Given the description of an element on the screen output the (x, y) to click on. 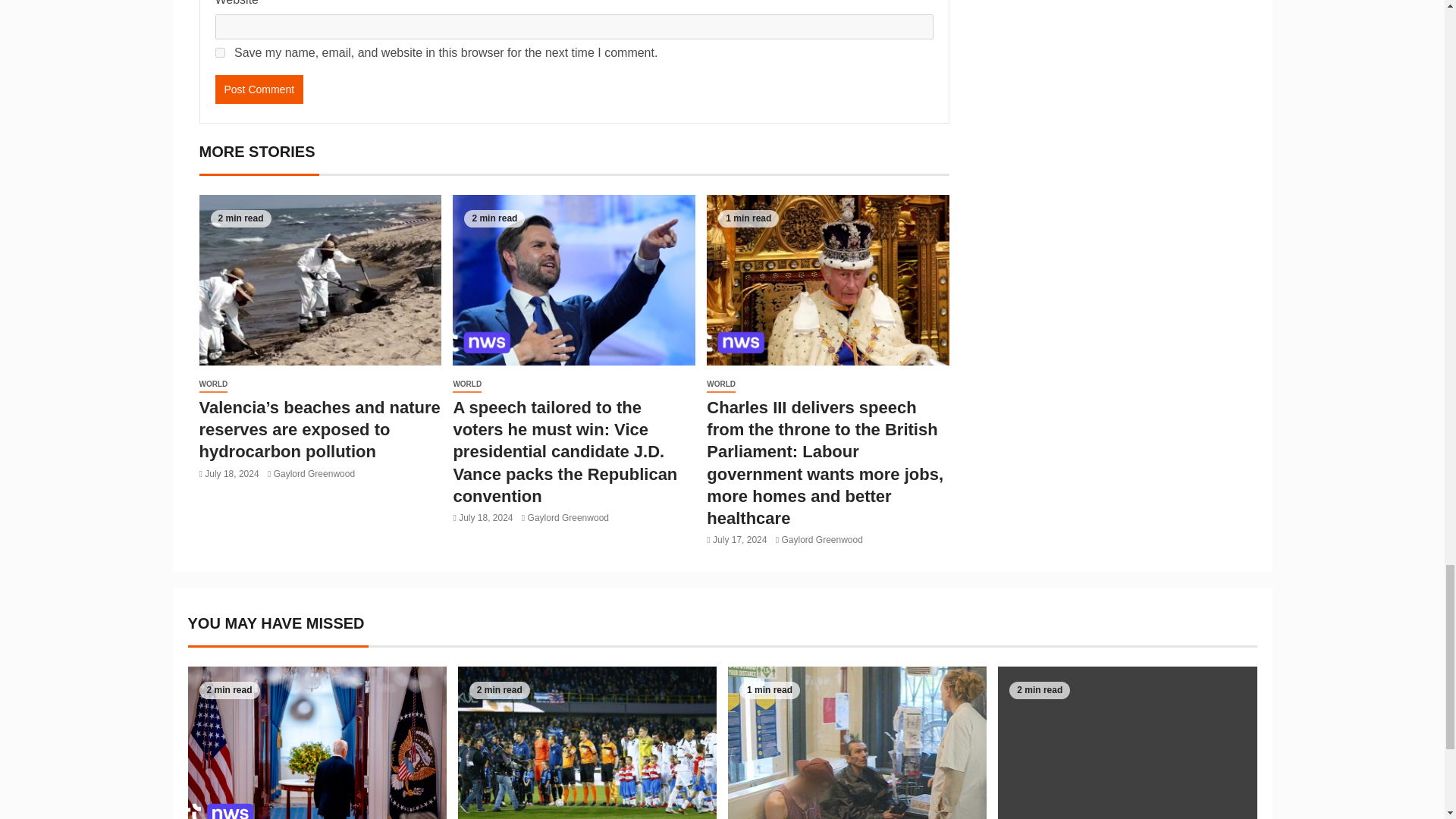
yes (220, 52)
Post Comment (259, 89)
Post Comment (259, 89)
